Given the description of an element on the screen output the (x, y) to click on. 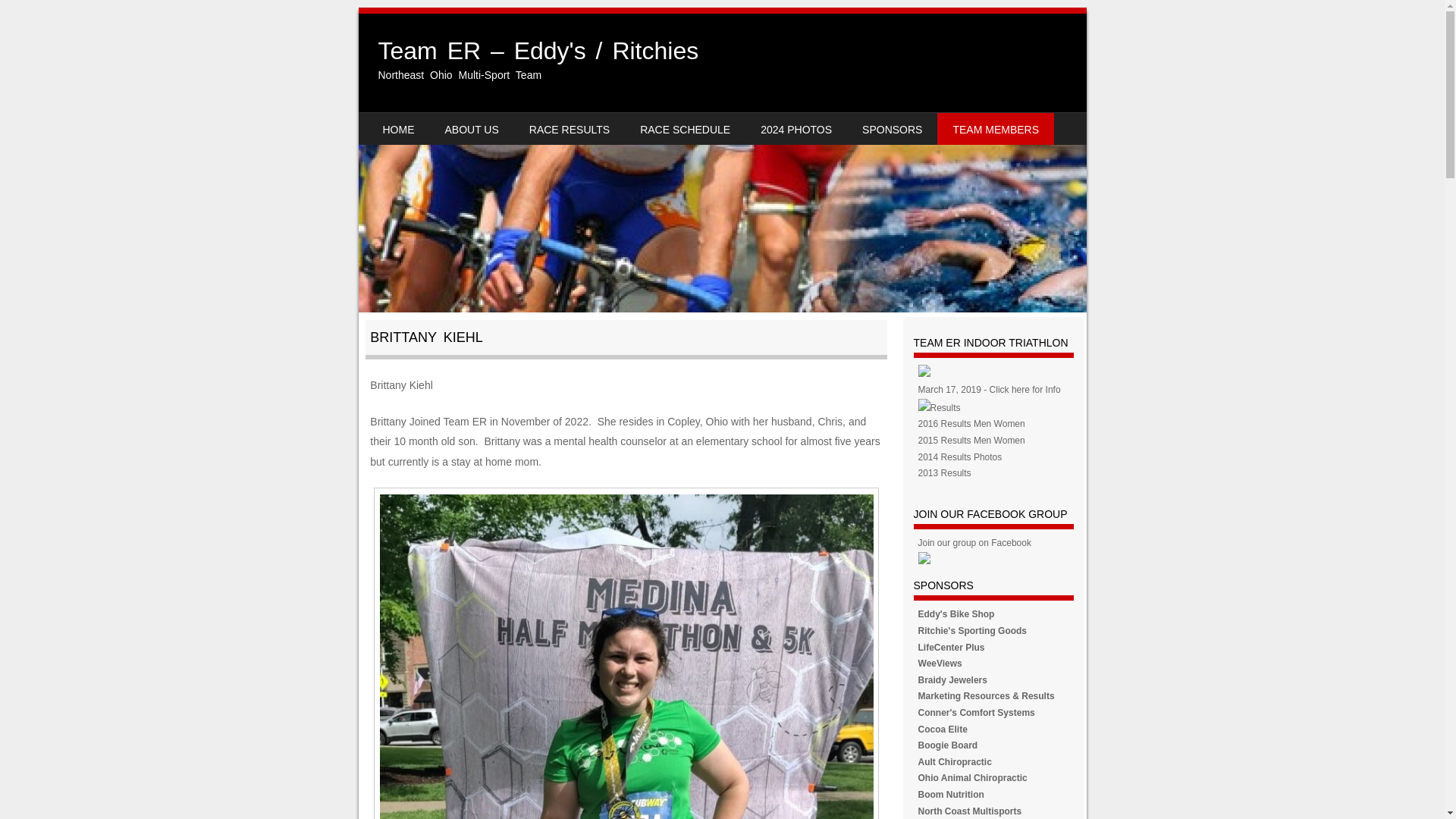
Skip to content (405, 122)
2024 PHOTOS (796, 128)
HOME (397, 128)
RACE RESULTS (568, 128)
TEAM MEMBERS (995, 128)
RACE SCHEDULE (684, 128)
SKIP TO CONTENT (405, 122)
SPONSORS (892, 128)
ABOUT US (471, 128)
